Given the description of an element on the screen output the (x, y) to click on. 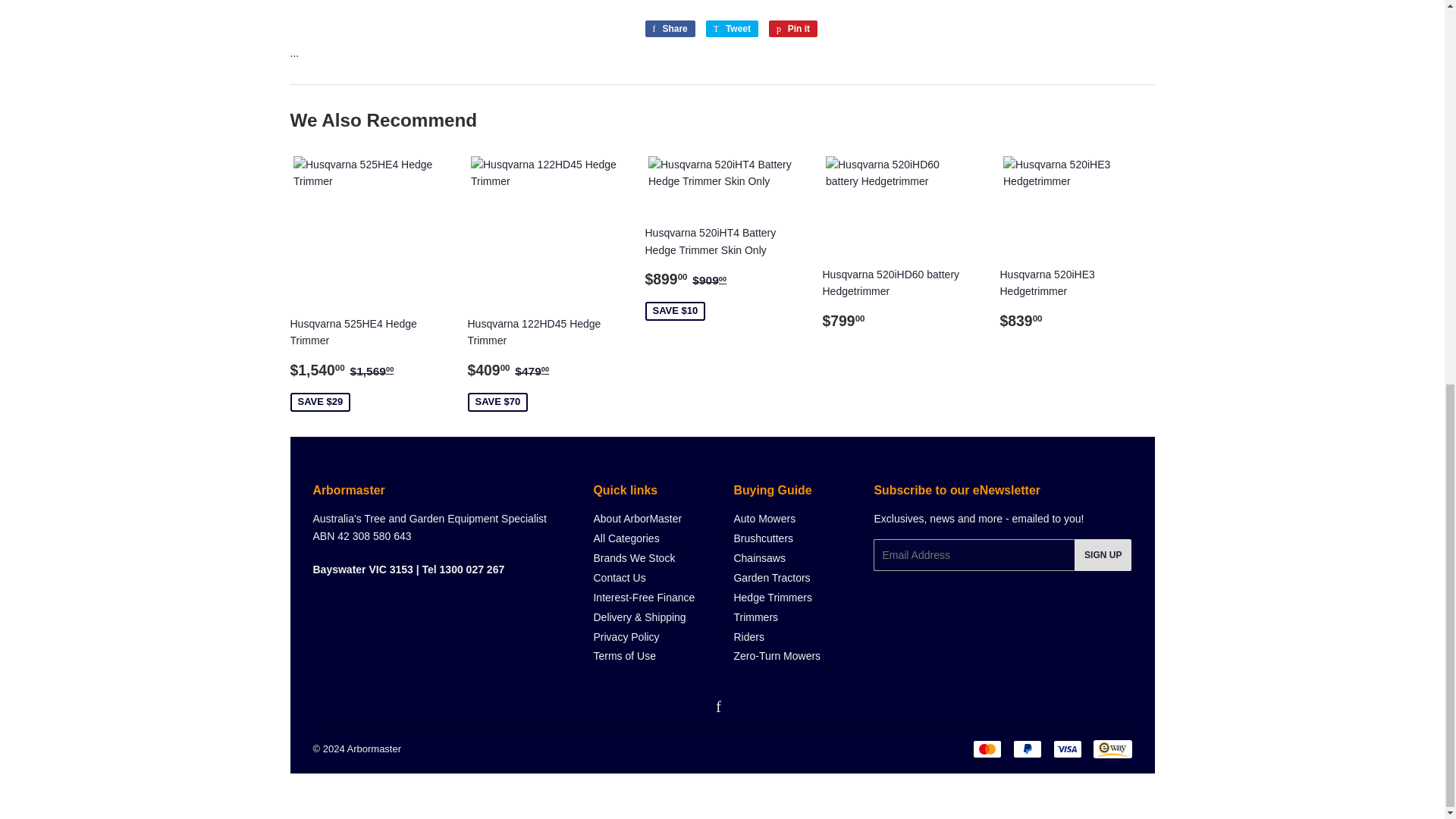
Pin on Pinterest (792, 28)
Mastercard (986, 749)
PayPal (1027, 749)
Share on Facebook (669, 28)
Tweet on Twitter (732, 28)
Visa (1066, 749)
